Given the description of an element on the screen output the (x, y) to click on. 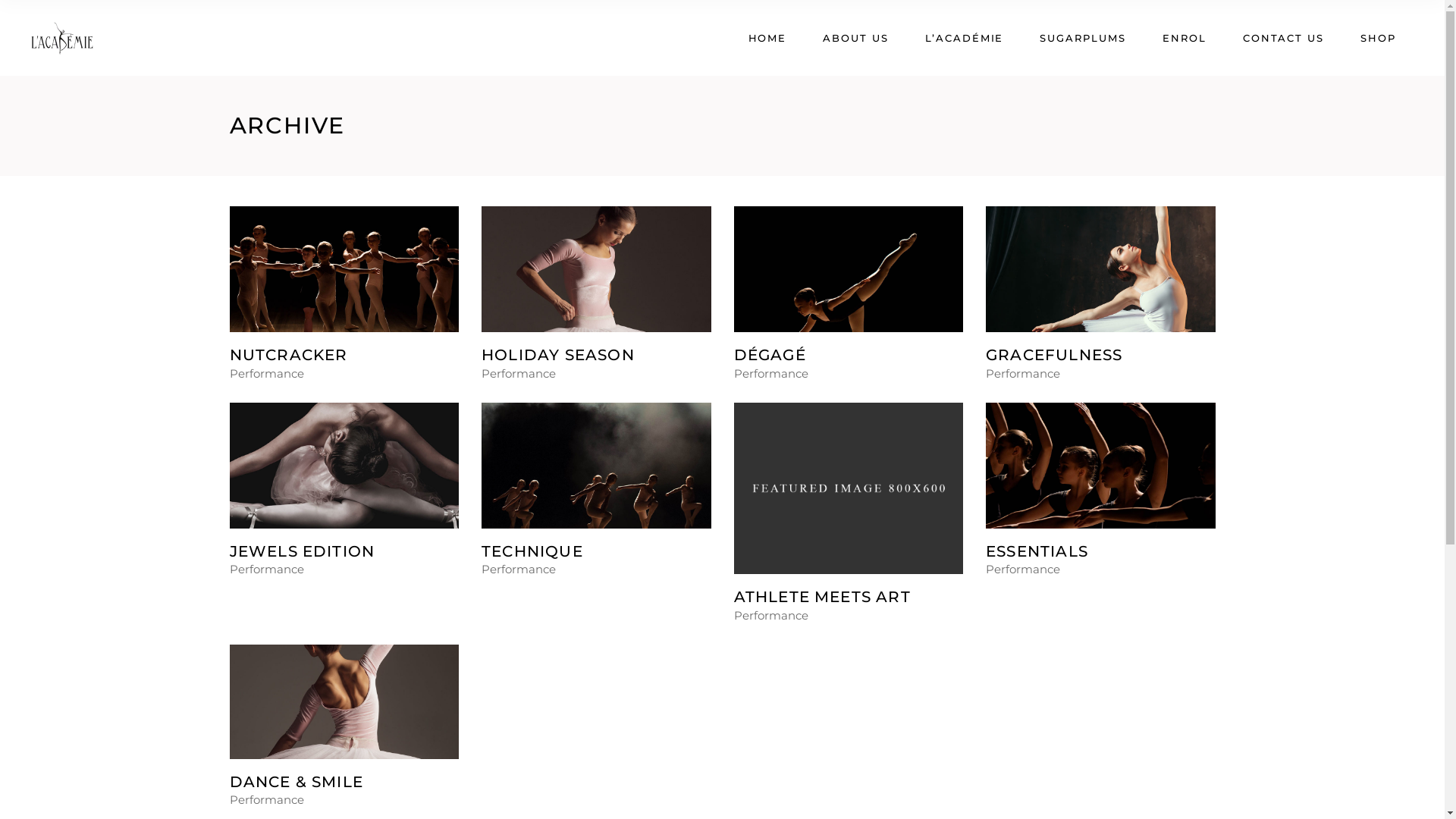
HOLIDAY SEASON Element type: text (557, 354)
Performance Element type: text (266, 799)
SUGARPLUMS Element type: text (1082, 37)
JEWELS EDITION Element type: text (301, 551)
Performance Element type: text (1022, 569)
TECHNIQUE Element type: text (532, 551)
Performance Element type: text (266, 373)
Performance Element type: text (1022, 373)
Performance Element type: text (518, 569)
Performance Element type: text (771, 615)
DANCE & SMILE Element type: text (296, 781)
Performance Element type: text (518, 373)
NUTCRACKER Element type: text (288, 354)
ESSENTIALS Element type: text (1036, 551)
ATHLETE MEETS ART Element type: text (822, 596)
ENROL Element type: text (1184, 37)
ABOUT US Element type: text (855, 37)
SHOP Element type: text (1378, 37)
CONTACT US Element type: text (1283, 37)
GRACEFULNESS Element type: text (1053, 354)
Performance Element type: text (771, 373)
HOME Element type: text (767, 37)
Performance Element type: text (266, 569)
